Given the description of an element on the screen output the (x, y) to click on. 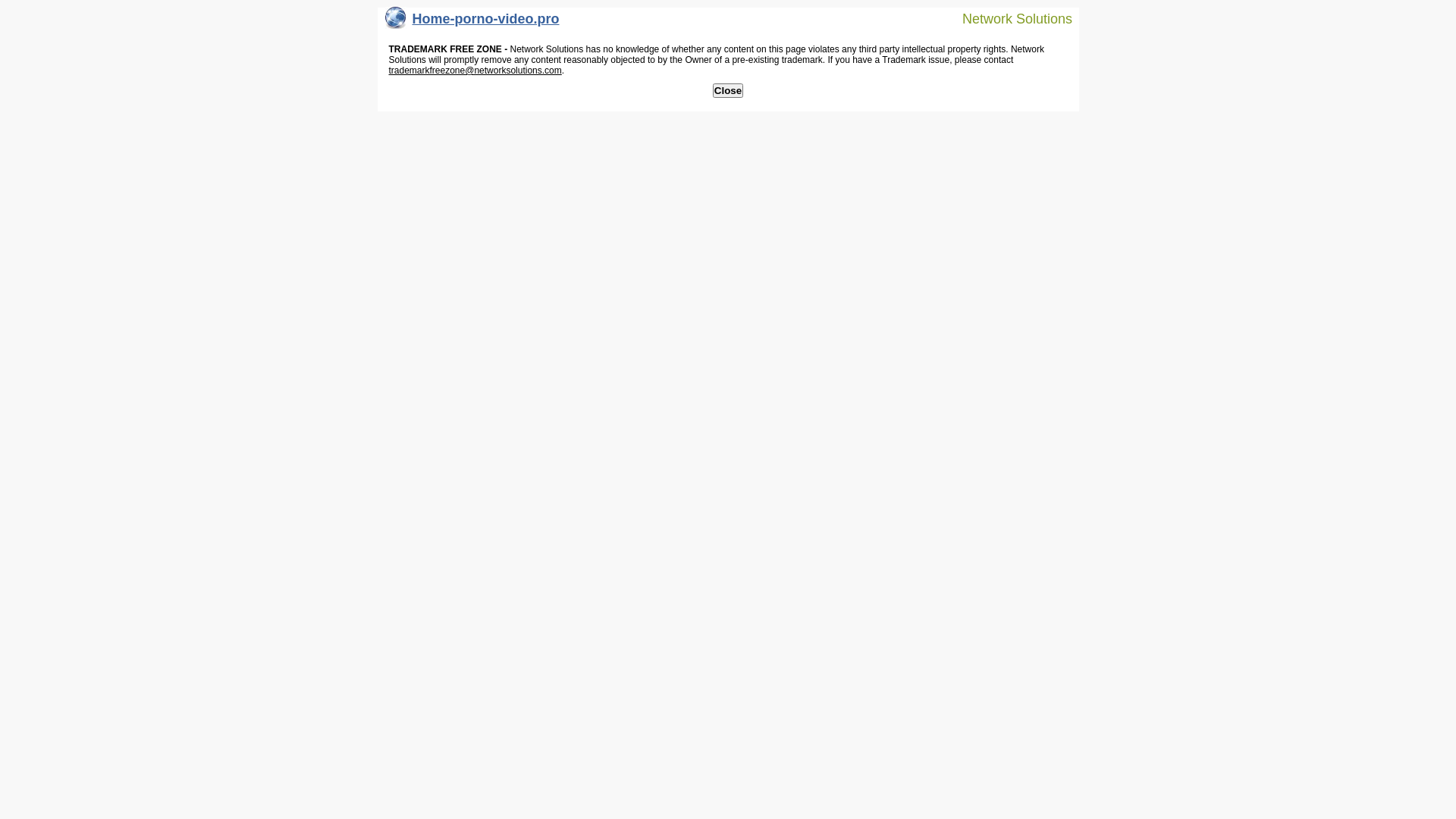
Close Element type: text (727, 90)
Network Solutions Element type: text (1007, 17)
Home-porno-video.pro Element type: text (472, 21)
trademarkfreezone@networksolutions.com Element type: text (474, 70)
